Given the description of an element on the screen output the (x, y) to click on. 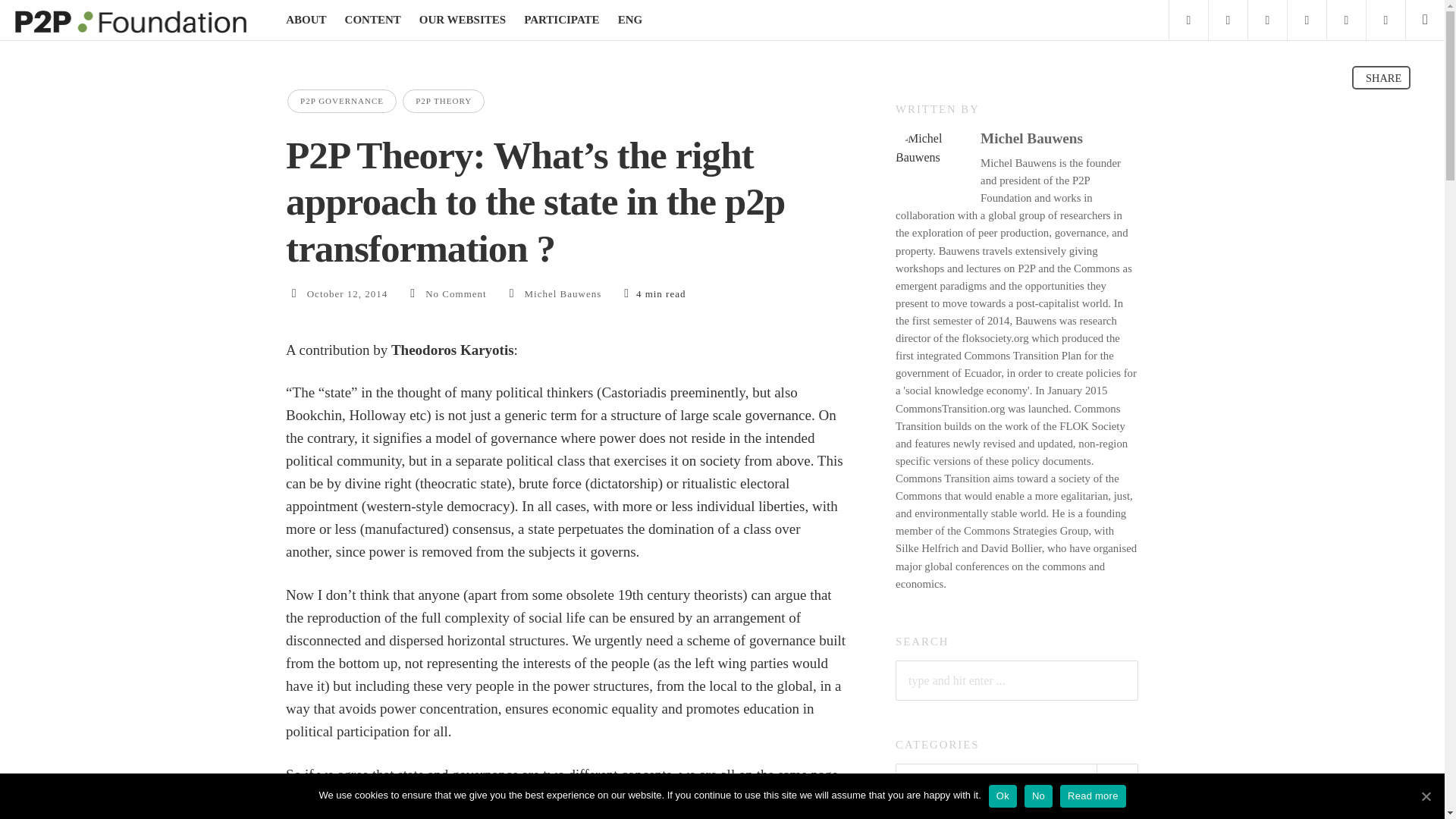
OUR WEBSITES (462, 20)
CONTENT (373, 20)
ABOUT (305, 20)
ENG (630, 20)
PARTICIPATE (561, 20)
